Given the description of an element on the screen output the (x, y) to click on. 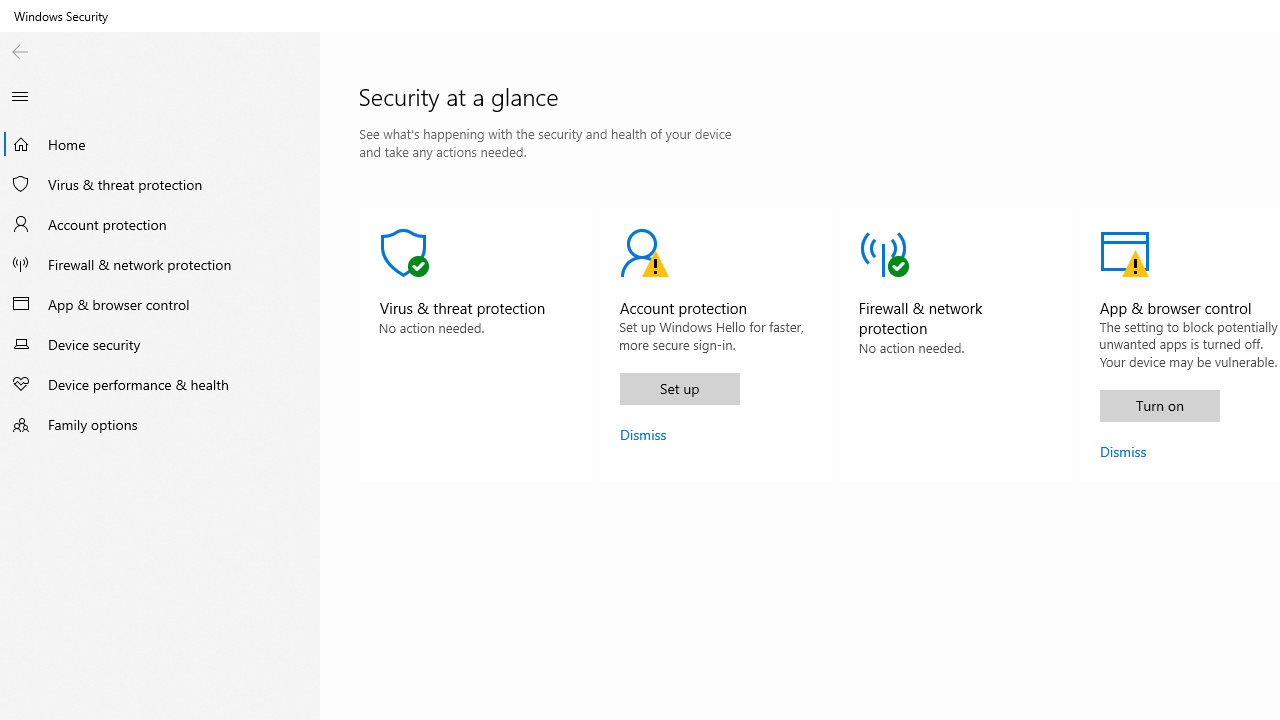
Family options (160, 423)
Device security (160, 344)
Close Navigation (19, 95)
Firewall & network protectionNo action needed. (955, 344)
Firewall & network protection (160, 263)
Home (160, 143)
Turn on (1159, 405)
Account protection (160, 223)
App & browser control (160, 303)
Device performance & health (160, 383)
Dismiss (1122, 451)
Back (19, 51)
Virus & threat protection (475, 344)
Account protectionAction Recommended. (716, 344)
Windows Hello set up (679, 388)
